Given the description of an element on the screen output the (x, y) to click on. 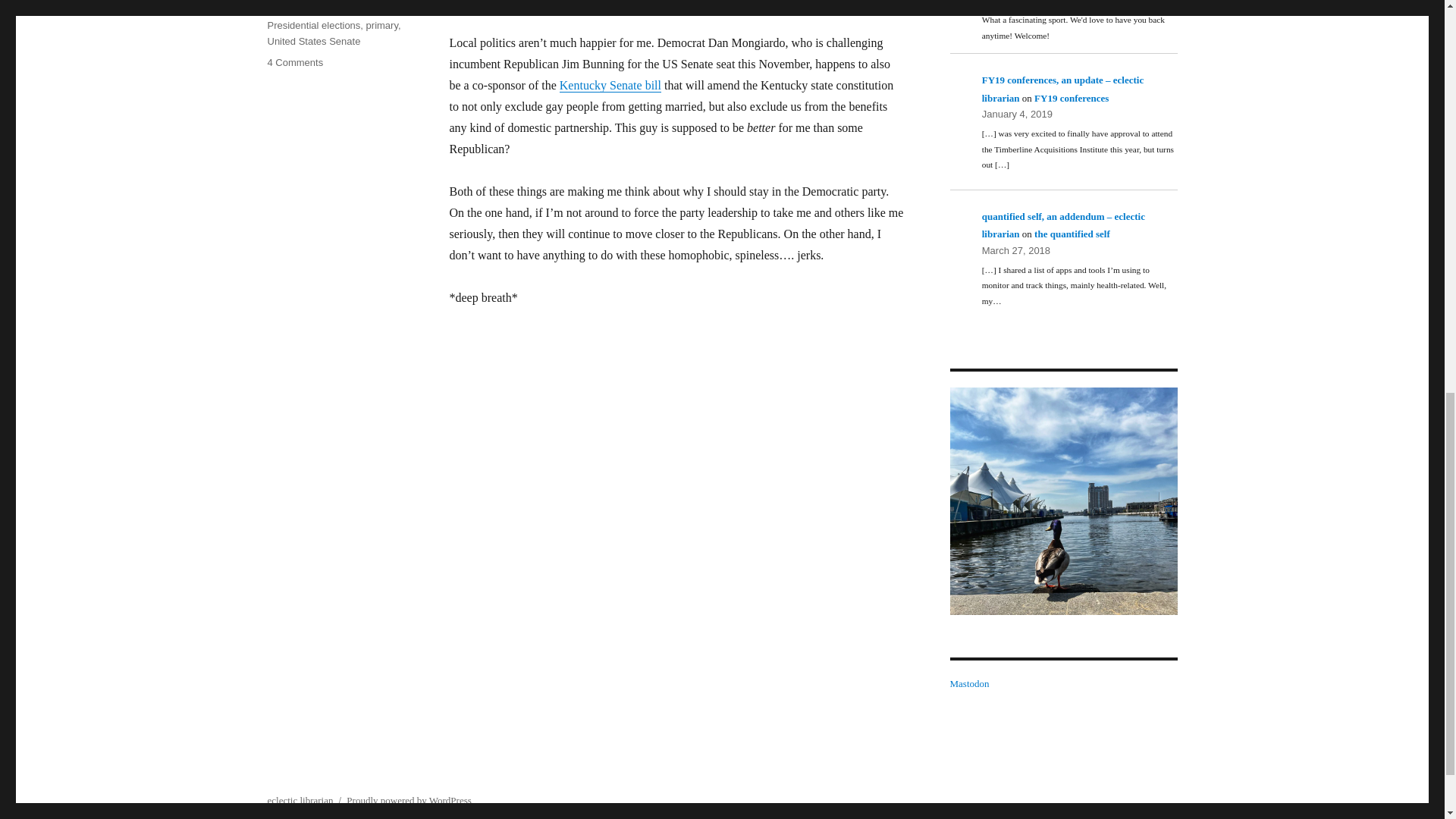
United States Senate (312, 41)
Political Endorsement (314, 9)
Presidential elections (312, 25)
Kentucky Senate bill (610, 84)
Anna Creech (294, 61)
primary (1062, 500)
